Given the description of an element on the screen output the (x, y) to click on. 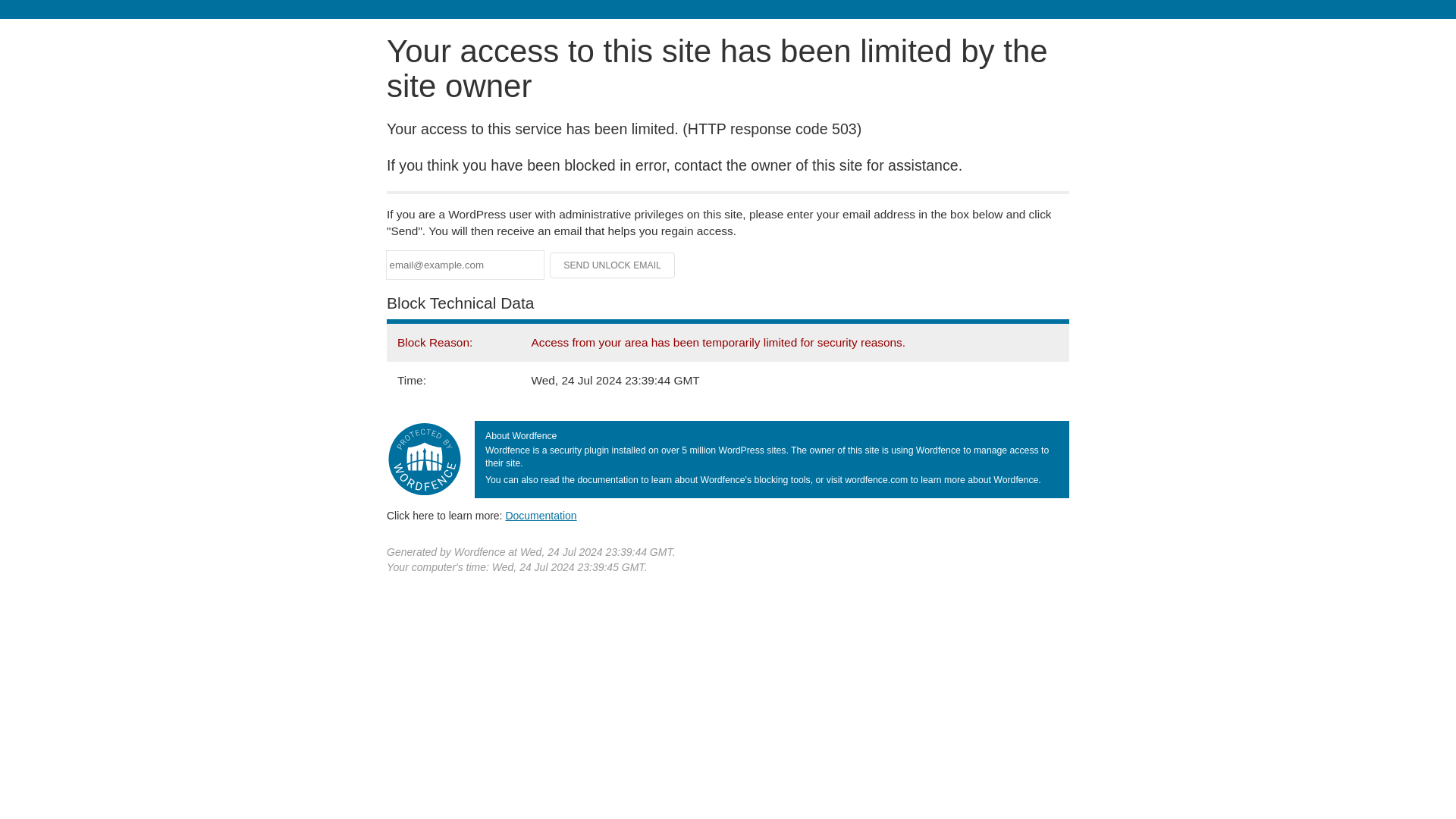
Send Unlock Email (612, 265)
Send Unlock Email (612, 265)
Documentation (540, 515)
